Given the description of an element on the screen output the (x, y) to click on. 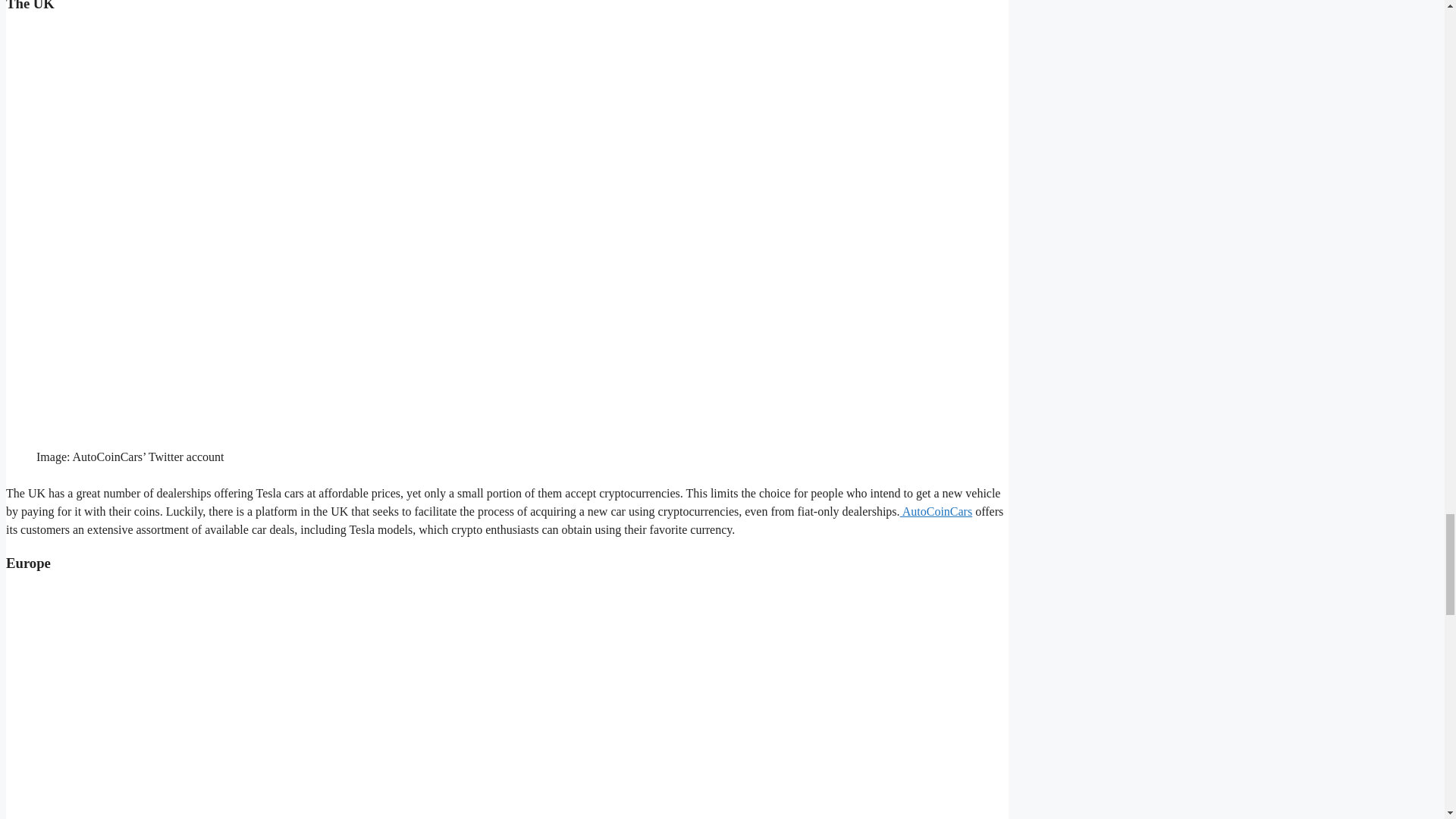
AutoCoinCars (935, 511)
